Given the description of an element on the screen output the (x, y) to click on. 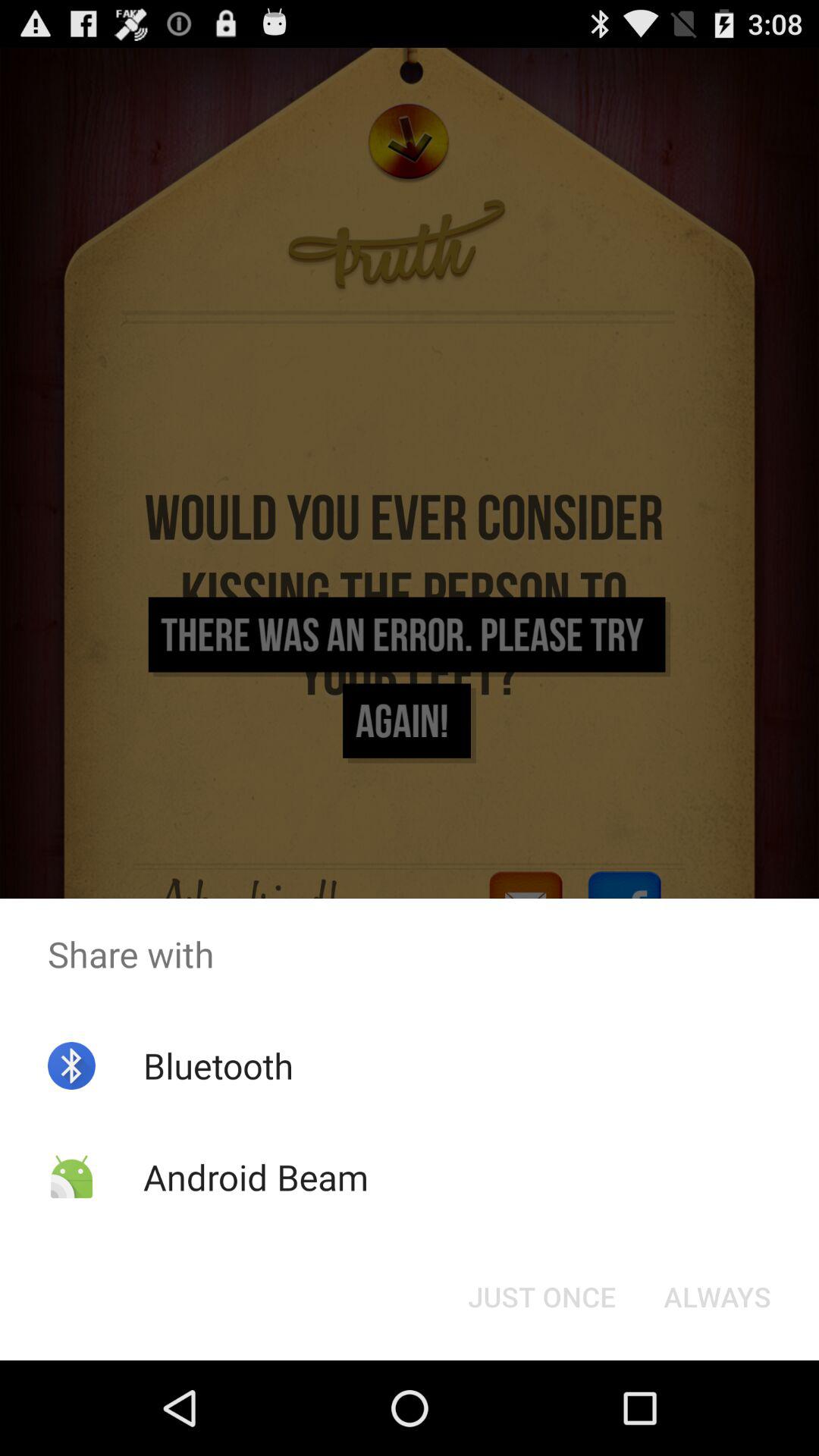
open the item above android beam (218, 1065)
